Given the description of an element on the screen output the (x, y) to click on. 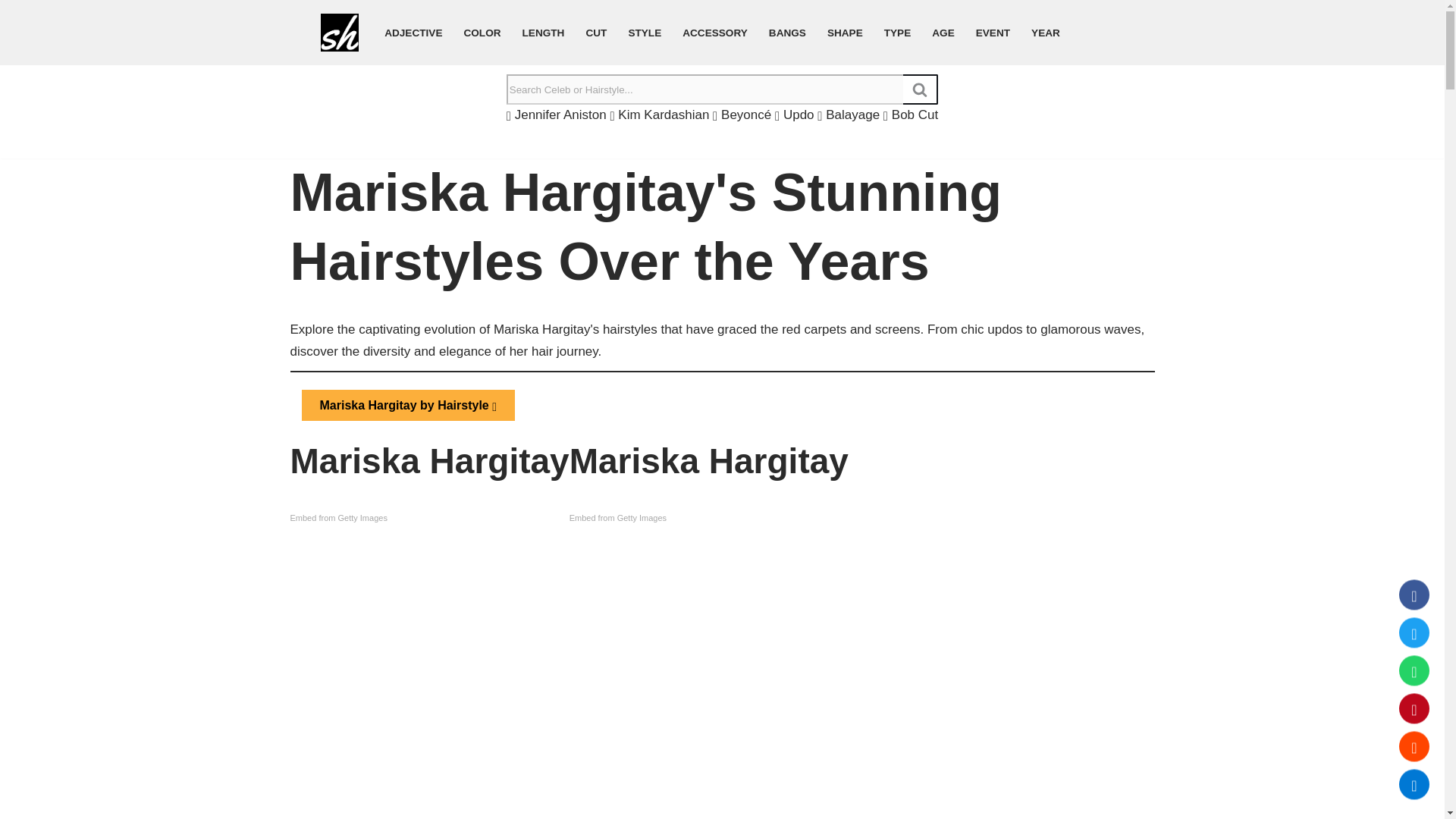
STYLE (644, 31)
BANGS (787, 31)
Bob Cut (910, 114)
Kim Kardashian (659, 114)
ADJECTIVE (413, 31)
SHAPE (845, 31)
YEAR (1044, 31)
EVENT (992, 31)
AGE (942, 31)
Skip to content (11, 31)
